Given the description of an element on the screen output the (x, y) to click on. 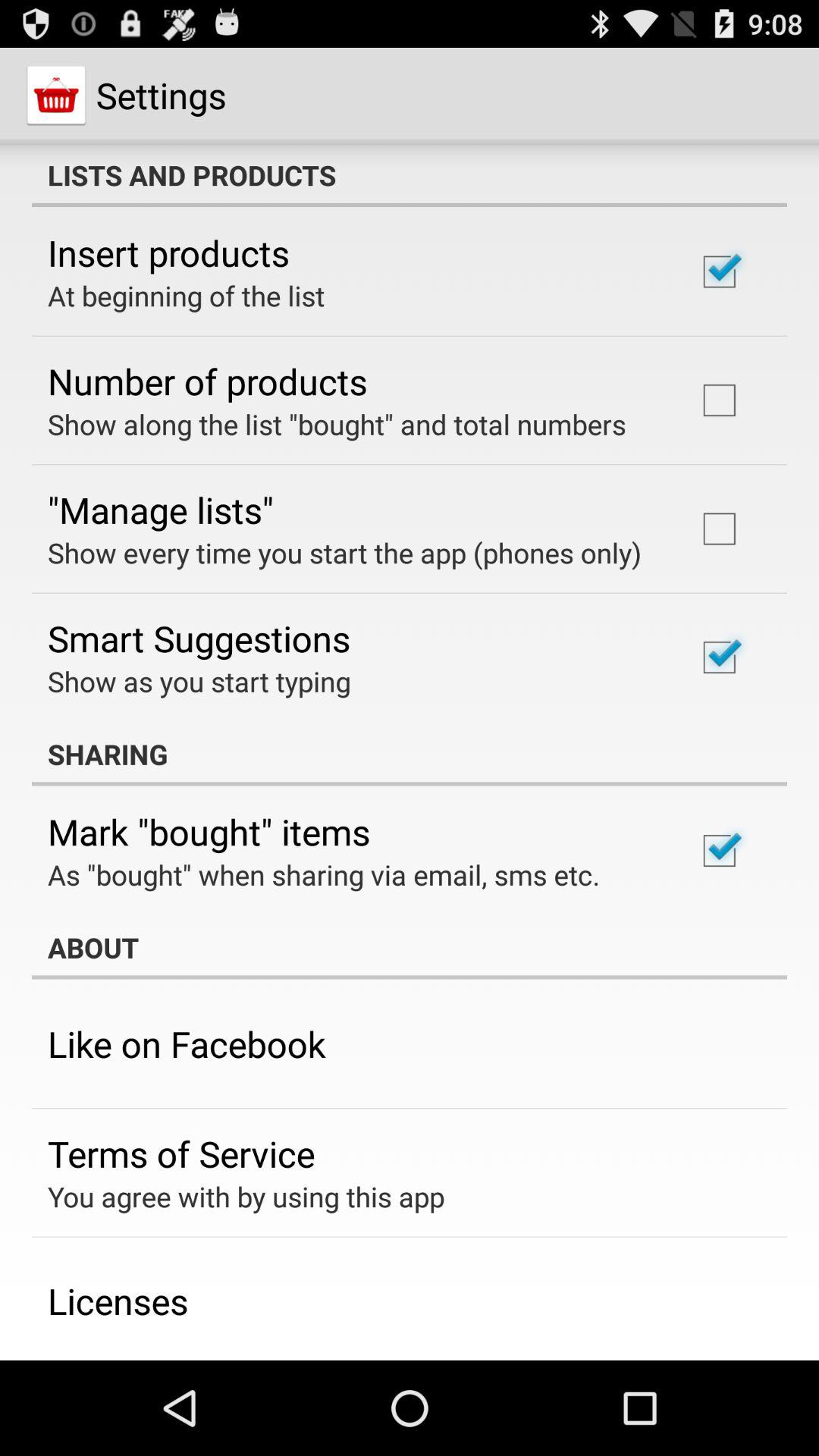
press show every time icon (344, 552)
